Given the description of an element on the screen output the (x, y) to click on. 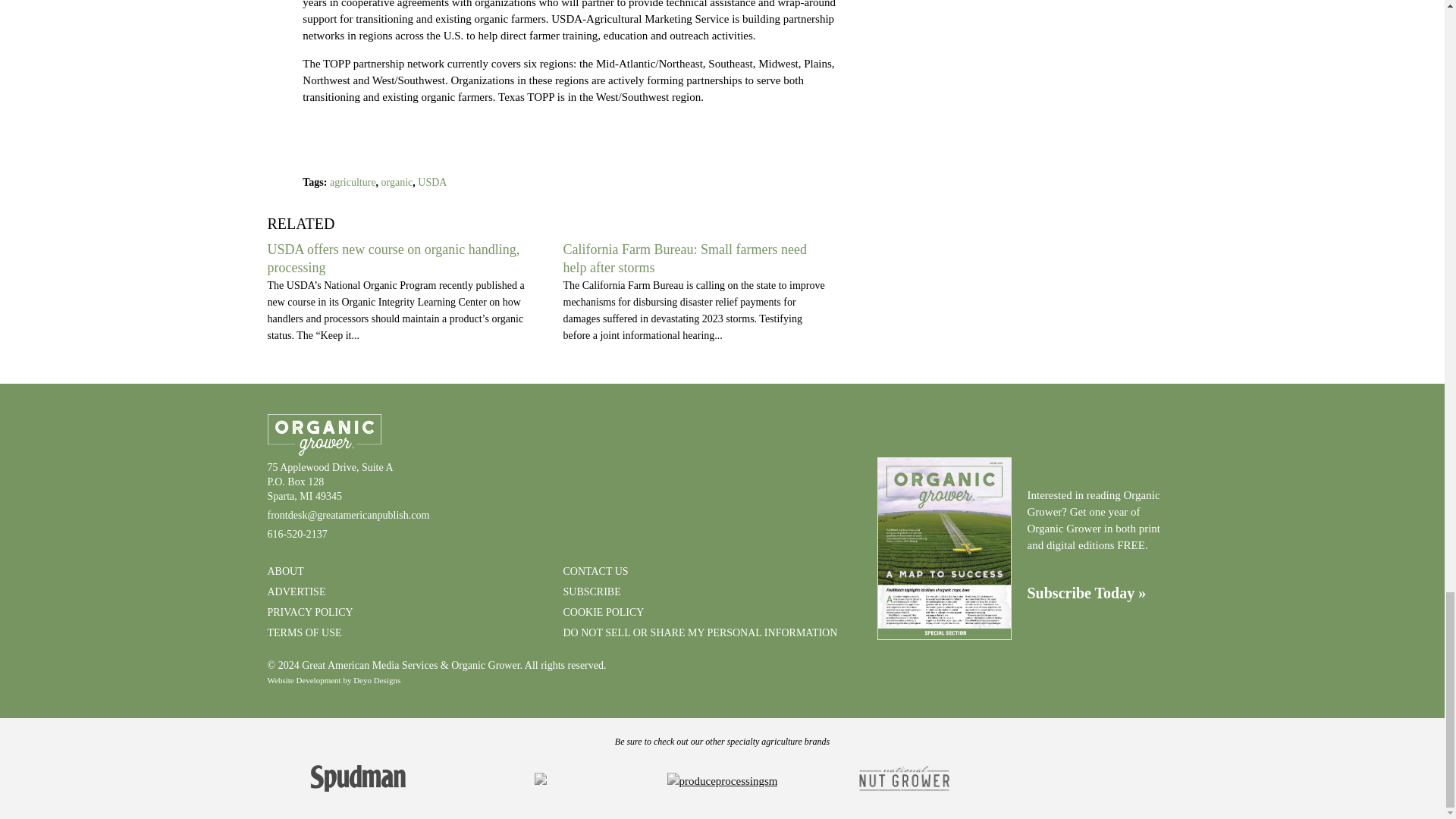
California Farm Bureau: Small farmers need help after storms (684, 258)
USDA offers new course on organic handling, processing (392, 258)
USDA (431, 182)
agriculture (352, 182)
organic (397, 182)
